Given the description of an element on the screen output the (x, y) to click on. 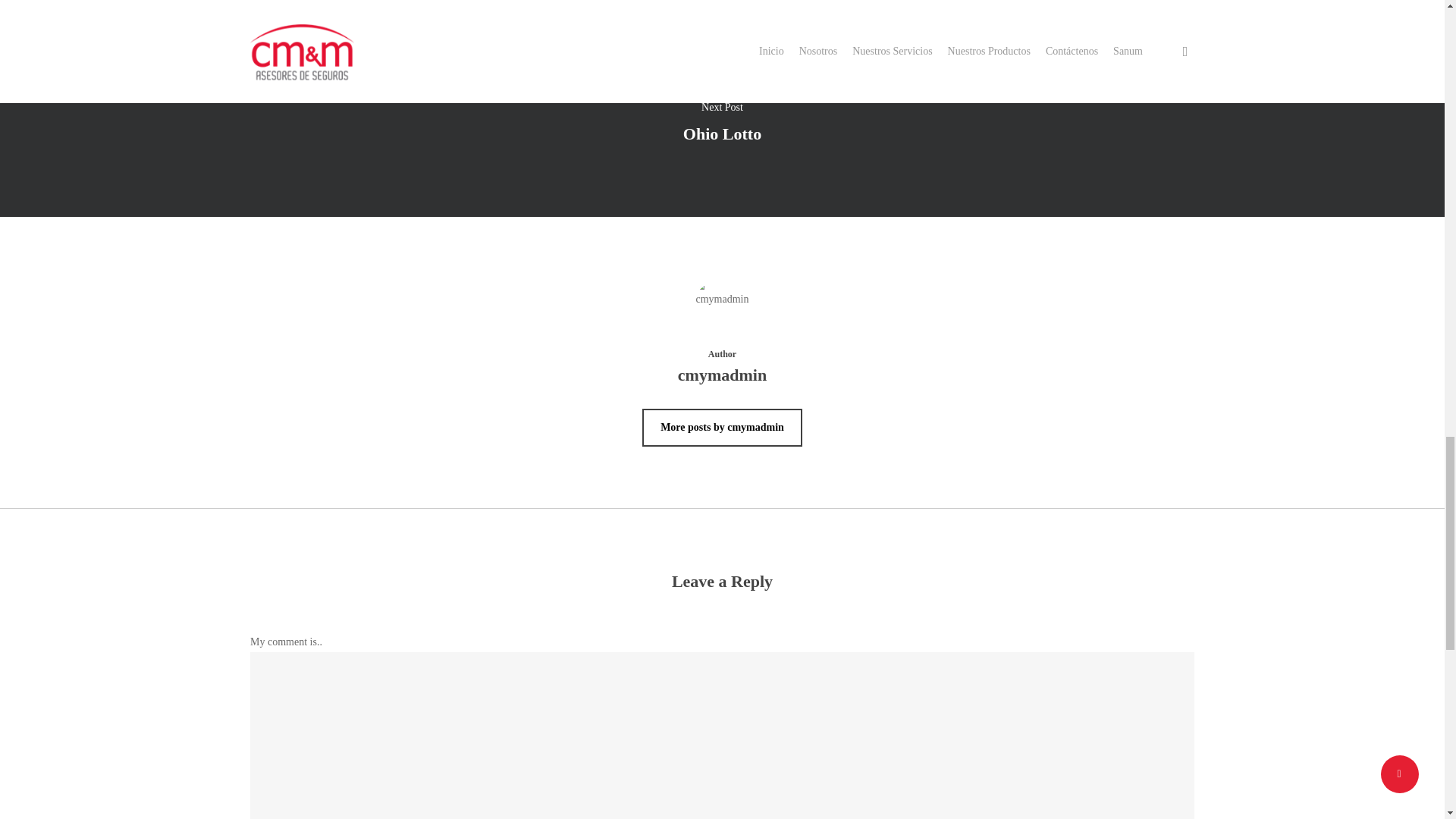
Ohio Lotto (722, 134)
More posts by cmymadmin (722, 427)
